Given the description of an element on the screen output the (x, y) to click on. 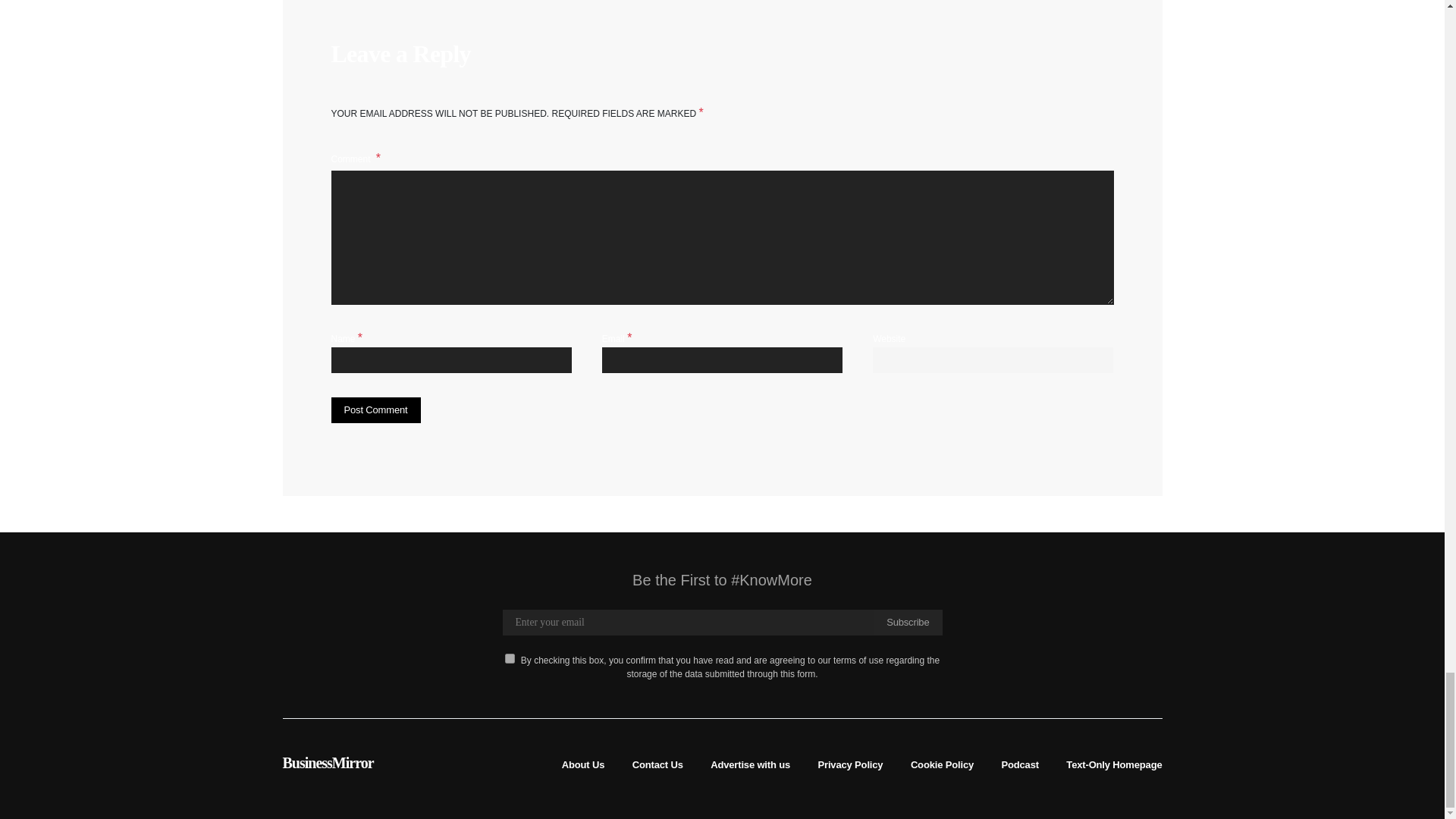
Post Comment (375, 410)
on (510, 658)
